Given the description of an element on the screen output the (x, y) to click on. 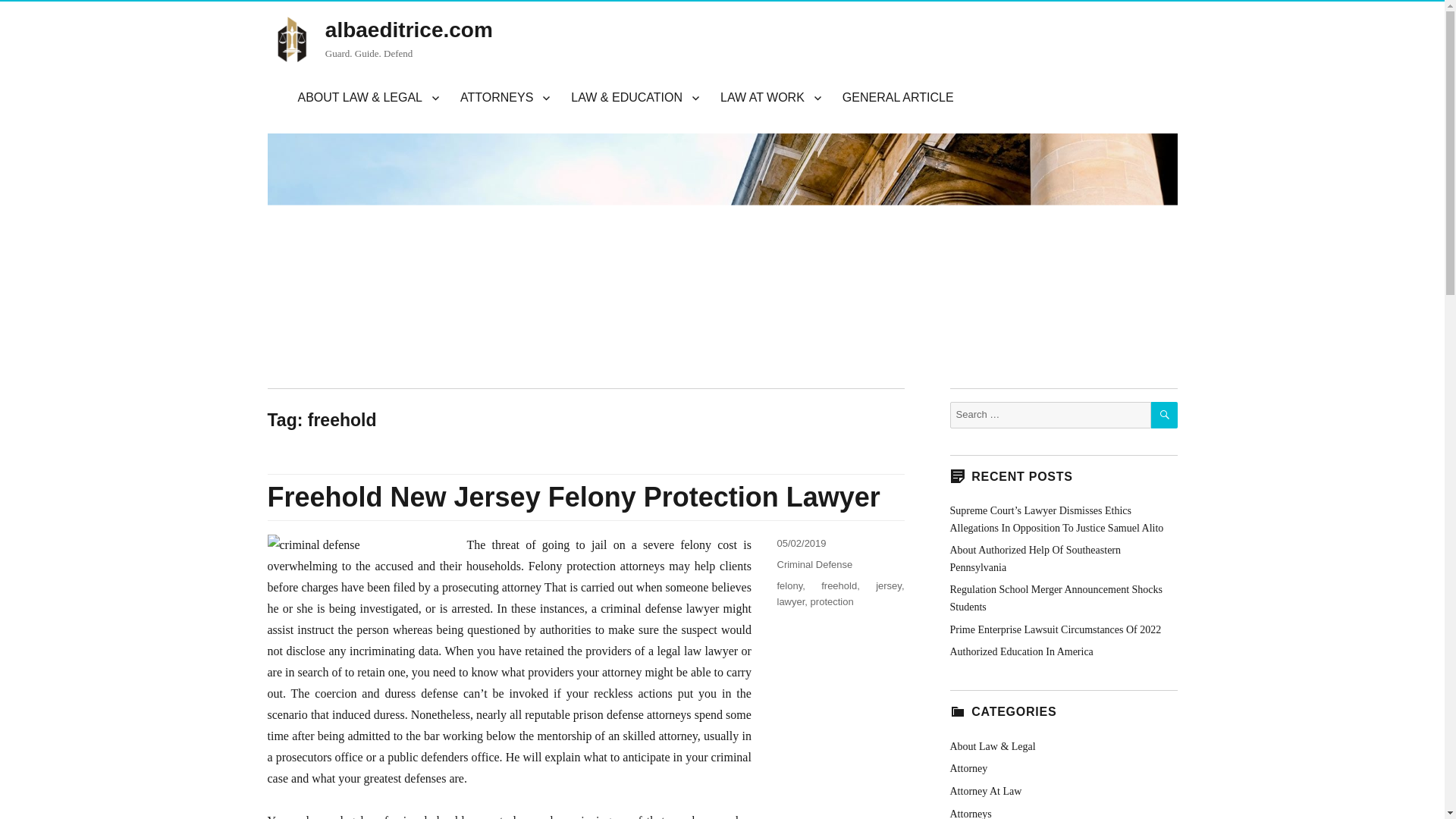
LAW AT WORK (770, 97)
GENERAL ARTICLE (897, 97)
freehold (839, 585)
Search for: (1049, 415)
lawyer (790, 601)
jersey (888, 585)
albaeditrice.com (408, 29)
felony (789, 585)
Criminal Defense (813, 564)
Freehold New Jersey Felony Protection Lawyer (572, 496)
ATTORNEYS (504, 97)
